Given the description of an element on the screen output the (x, y) to click on. 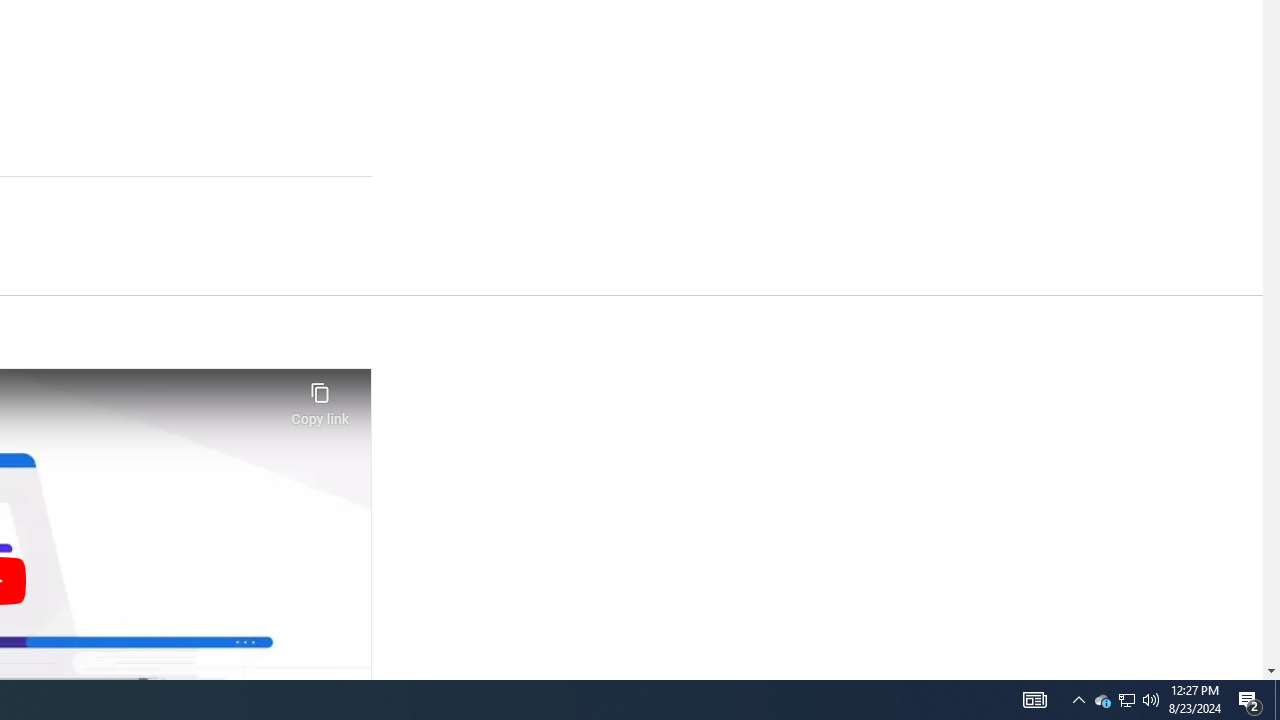
Copy link (319, 398)
